Given the description of an element on the screen output the (x, y) to click on. 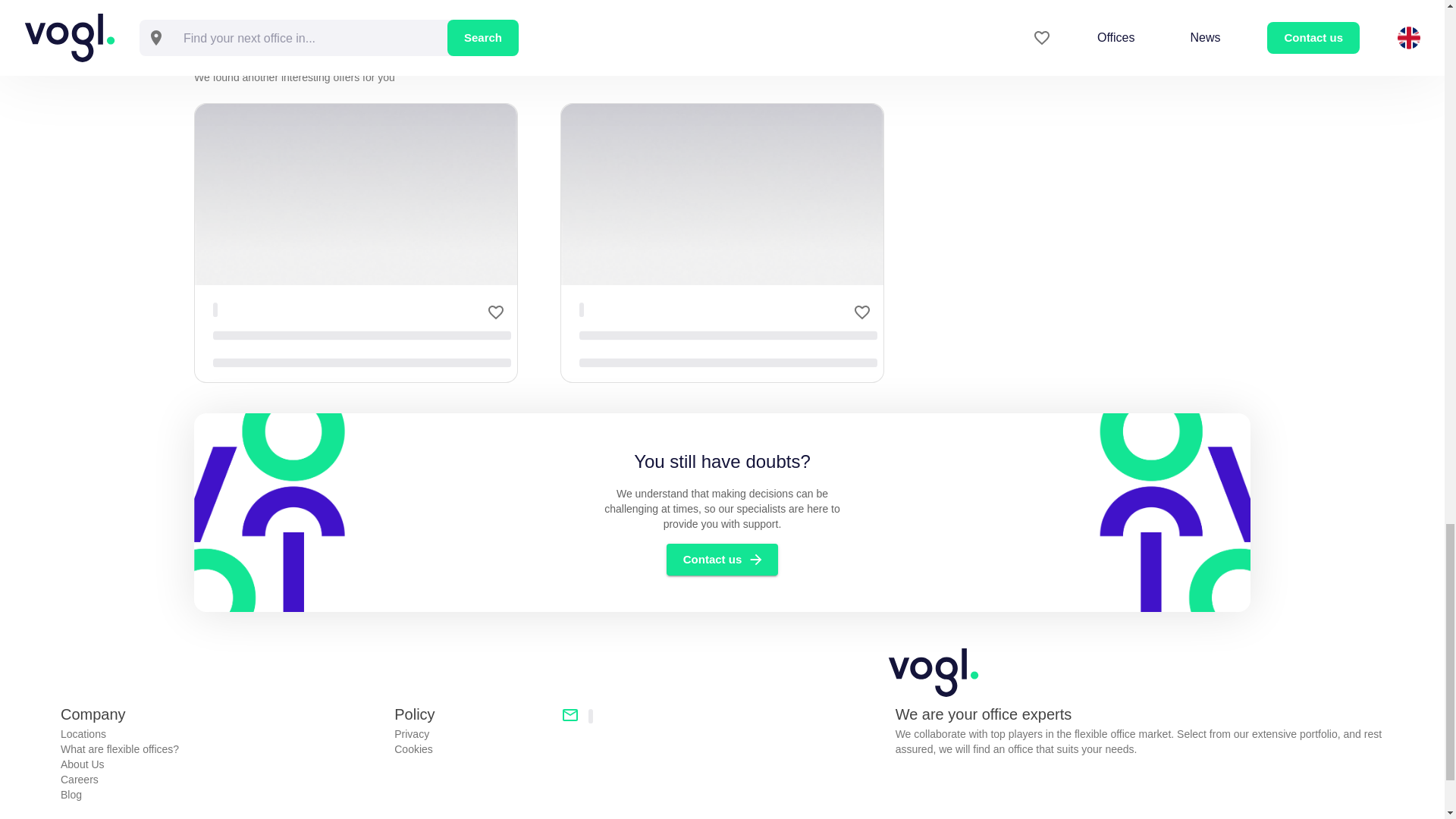
What are flexible offices? (221, 749)
Locations (221, 734)
Contact us (722, 559)
Blog (221, 794)
Careers (221, 779)
Privacy (471, 734)
Cookies (471, 749)
About Us (221, 764)
